Given the description of an element on the screen output the (x, y) to click on. 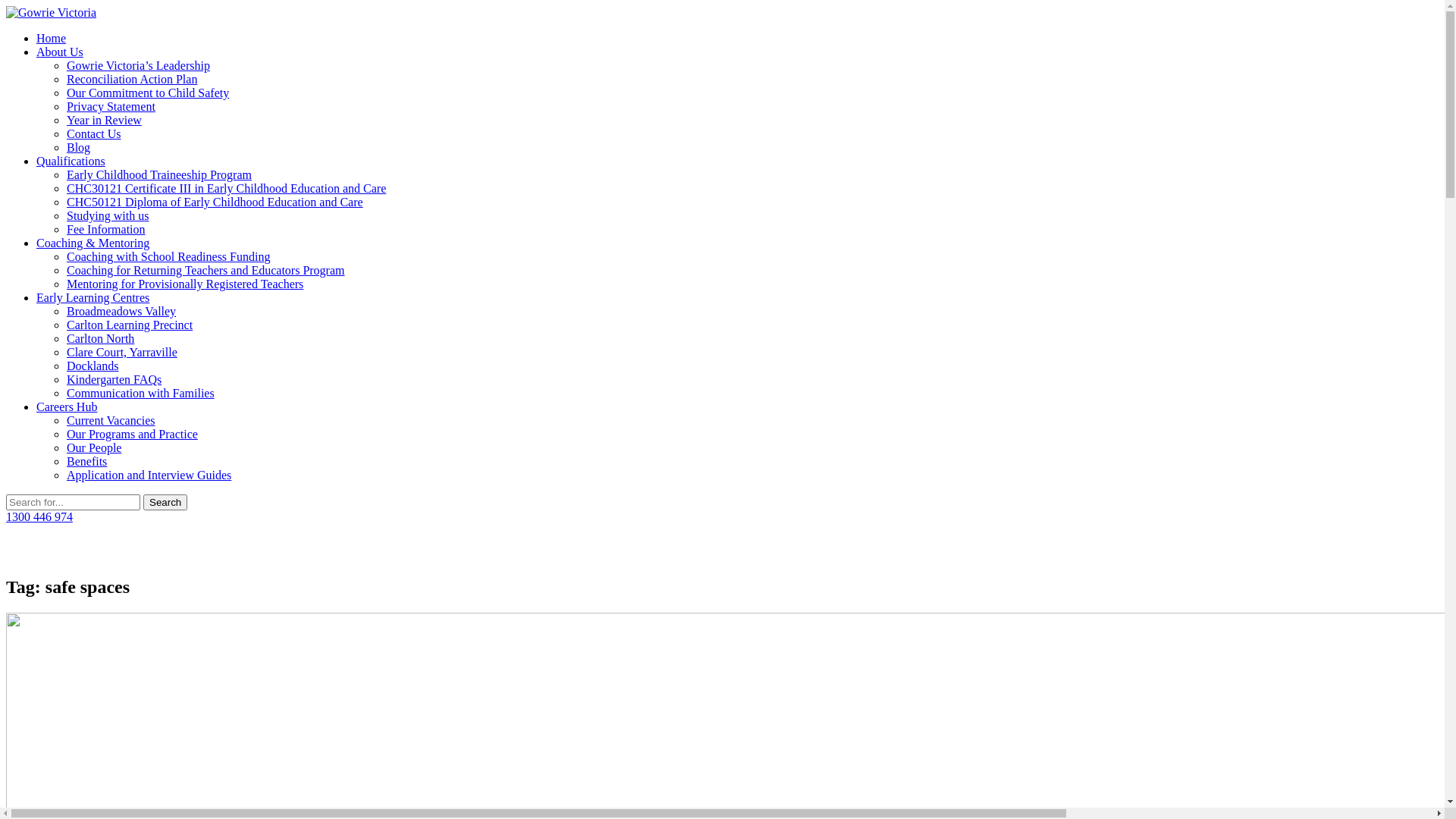
Carlton Learning Precinct Element type: text (129, 324)
Fee Information Element type: text (105, 228)
Coaching & Mentoring Element type: text (92, 242)
Year in Review Element type: text (103, 119)
Search Element type: text (165, 502)
Coaching with School Readiness Funding Element type: text (167, 256)
Qualifications Element type: text (70, 160)
About Us Element type: text (59, 51)
Mentoring for Provisionally Registered Teachers Element type: text (184, 283)
1300 446 974 Element type: text (39, 516)
Clare Court, Yarraville Element type: text (121, 351)
Reconciliation Action Plan Element type: text (131, 78)
Our Programs and Practice Element type: text (131, 433)
Coaching for Returning Teachers and Educators Program Element type: text (205, 269)
Docklands Element type: text (92, 365)
Carlton North Element type: text (100, 338)
Contact Us Element type: text (93, 133)
Privacy Statement Element type: text (110, 106)
Early Childhood Traineeship Program Element type: text (158, 174)
Current Vacancies Element type: text (110, 420)
Careers Hub Element type: text (66, 406)
Communication with Families Element type: text (140, 392)
Broadmeadows Valley Element type: text (120, 310)
CHC50121 Diploma of Early Childhood Education and Care Element type: text (214, 201)
Benefits Element type: text (86, 461)
Application and Interview Guides Element type: text (148, 474)
Early Learning Centres Element type: text (92, 297)
Home Element type: text (50, 37)
Our People Element type: text (93, 447)
Kindergarten FAQs Element type: text (113, 379)
Blog Element type: text (78, 147)
Our Commitment to Child Safety Element type: text (147, 92)
Studying with us Element type: text (107, 215)
